Given the description of an element on the screen output the (x, y) to click on. 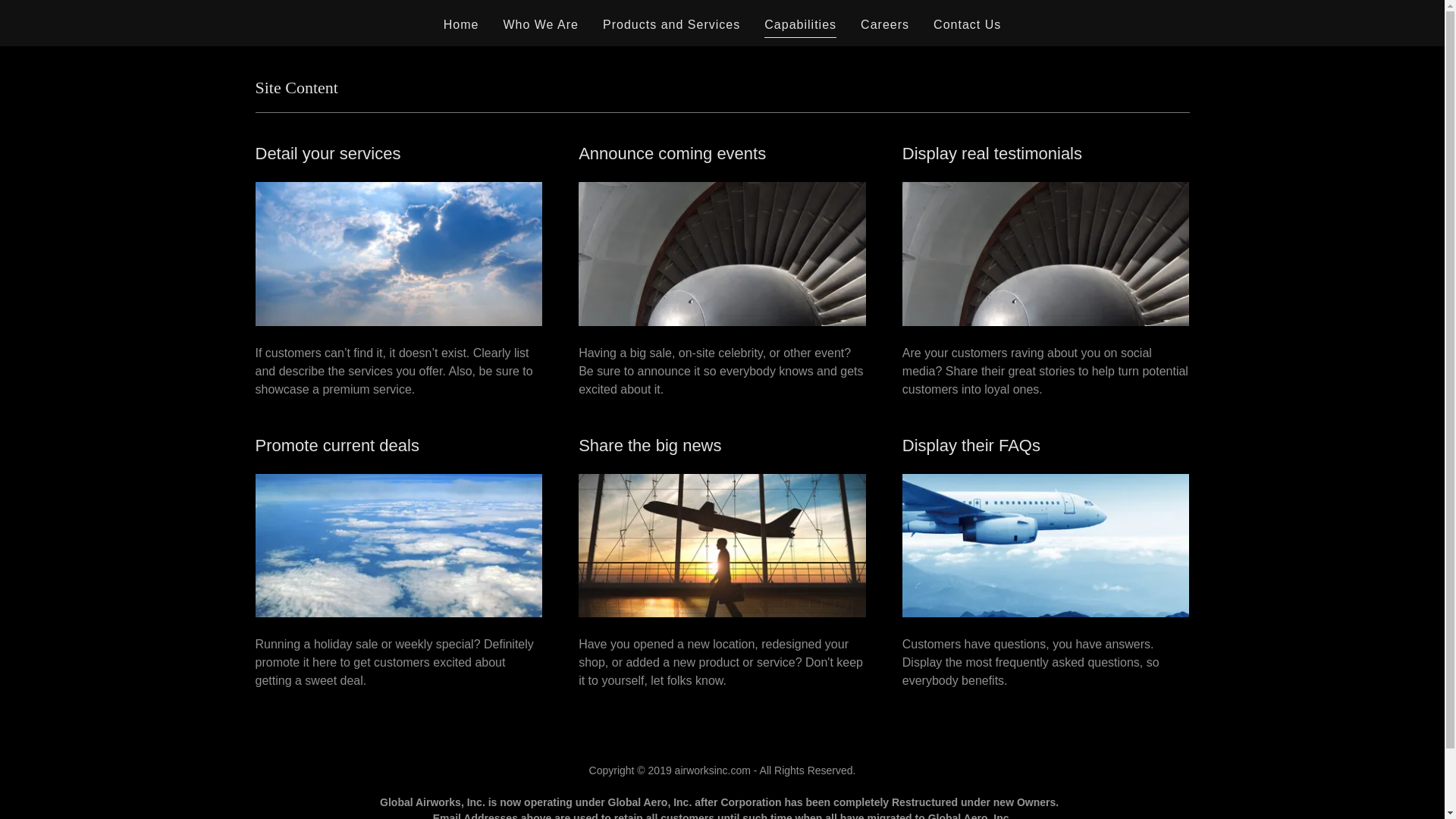
Products and Services (671, 24)
Careers (885, 24)
Home (461, 24)
Who We Are (540, 24)
Contact Us (967, 24)
Capabilities (799, 26)
